Given the description of an element on the screen output the (x, y) to click on. 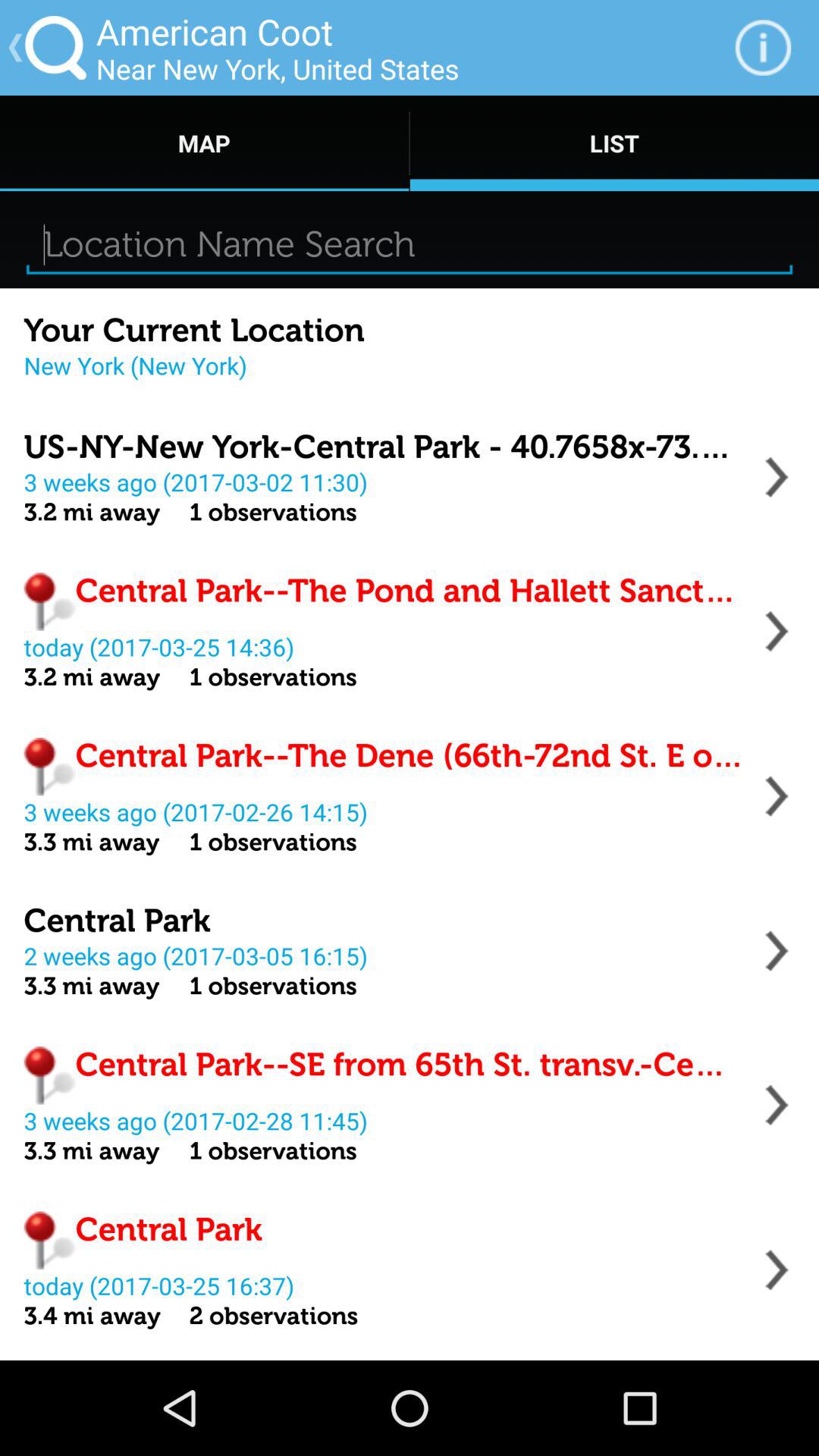
view address (776, 796)
